Given the description of an element on the screen output the (x, y) to click on. 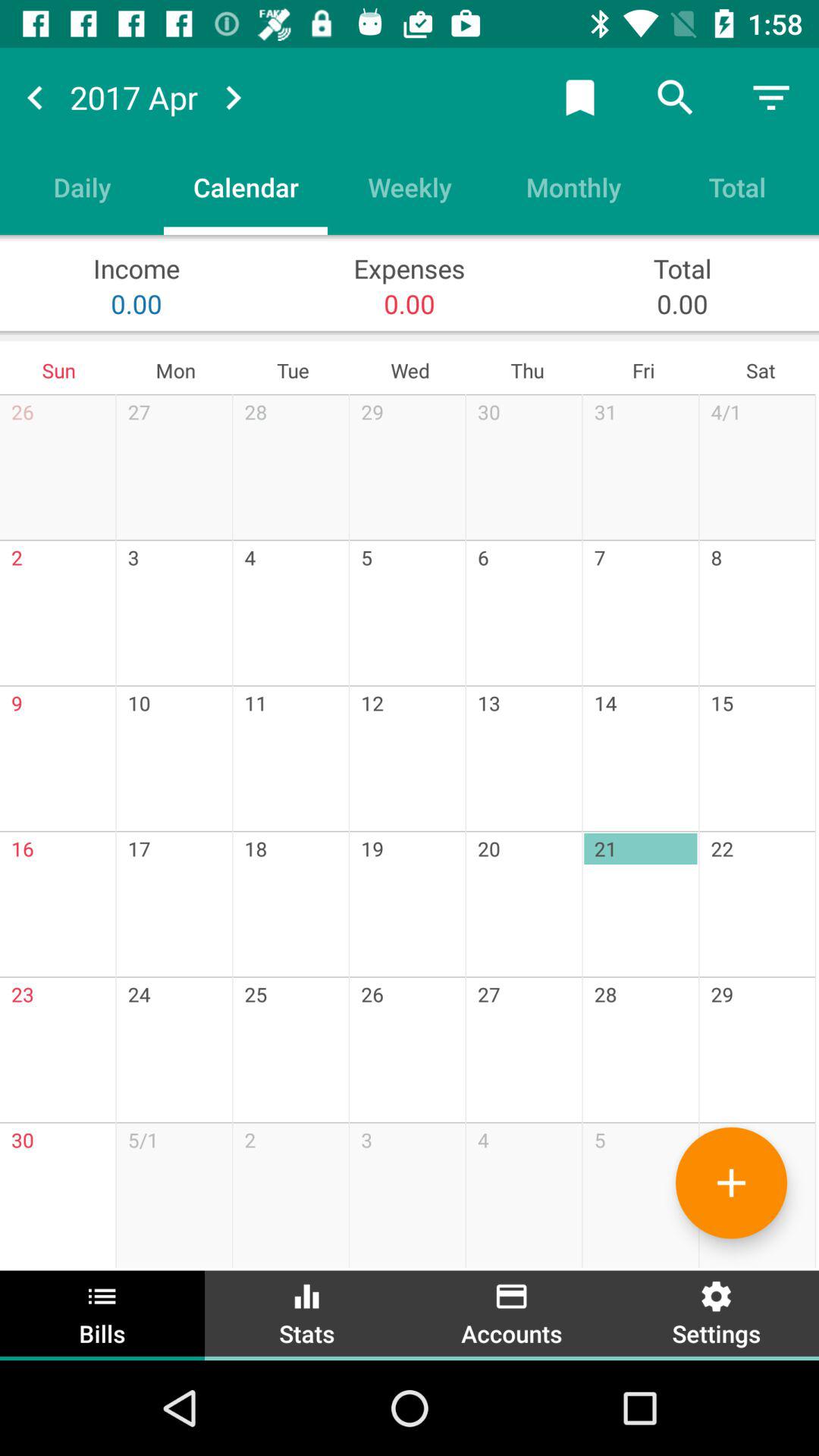
click the daily icon (81, 186)
